Given the description of an element on the screen output the (x, y) to click on. 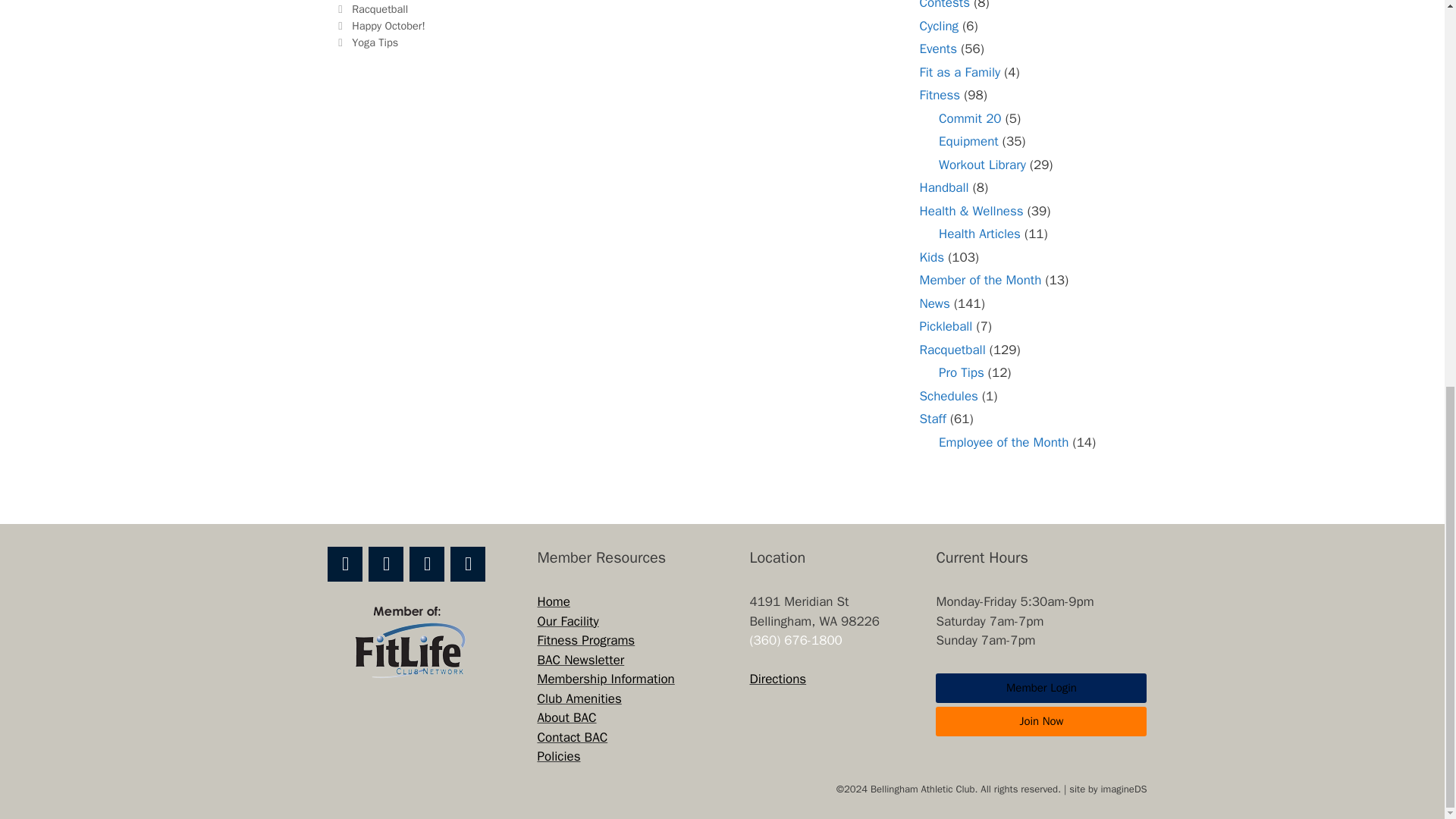
Facebook (344, 564)
